Given the description of an element on the screen output the (x, y) to click on. 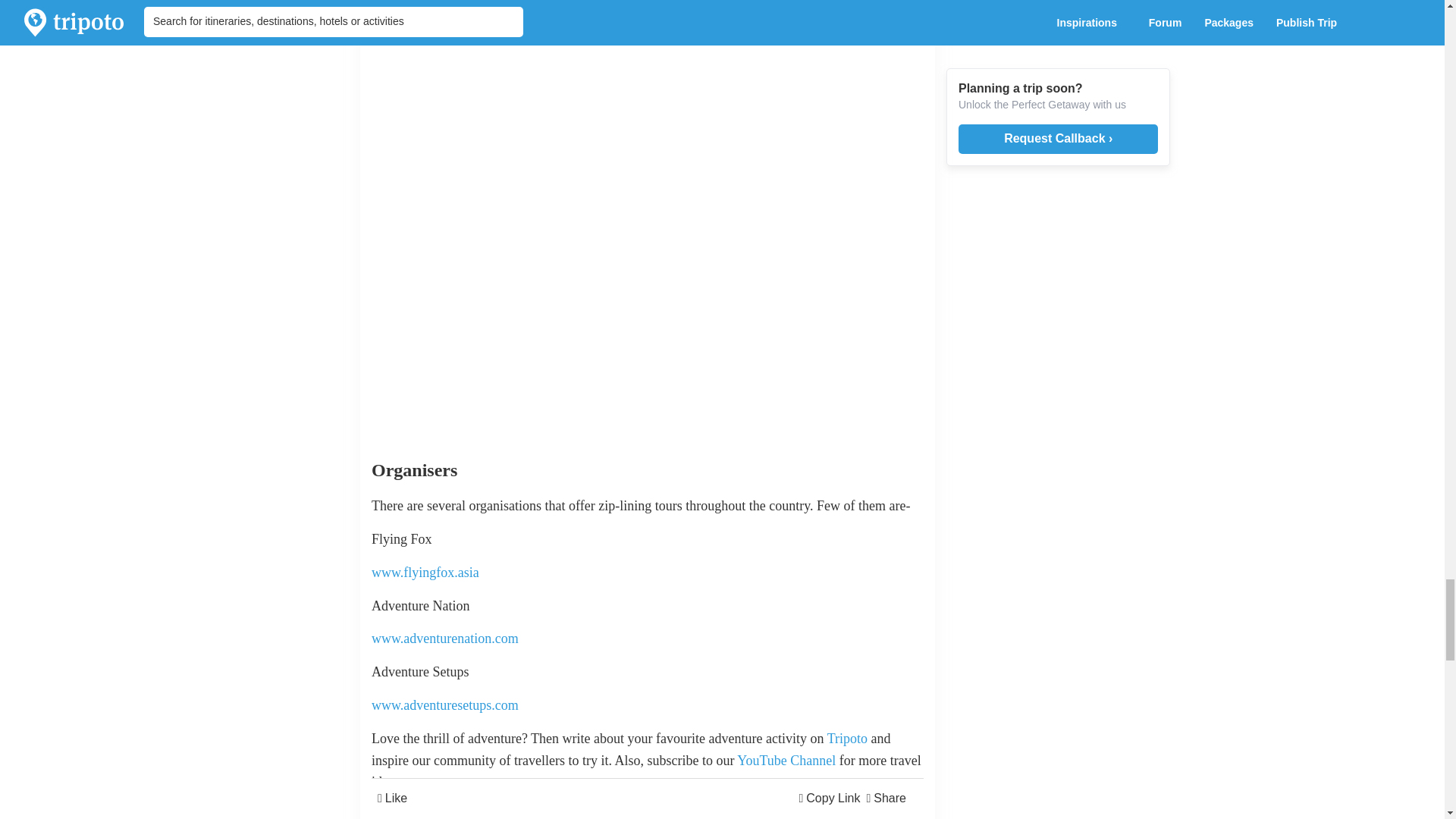
www.adventurenation.com (444, 638)
Tripoto (848, 738)
www.adventuresetups.com (444, 704)
www.flyingfox.asia (425, 572)
YouTube Channel (788, 760)
